Given the description of an element on the screen output the (x, y) to click on. 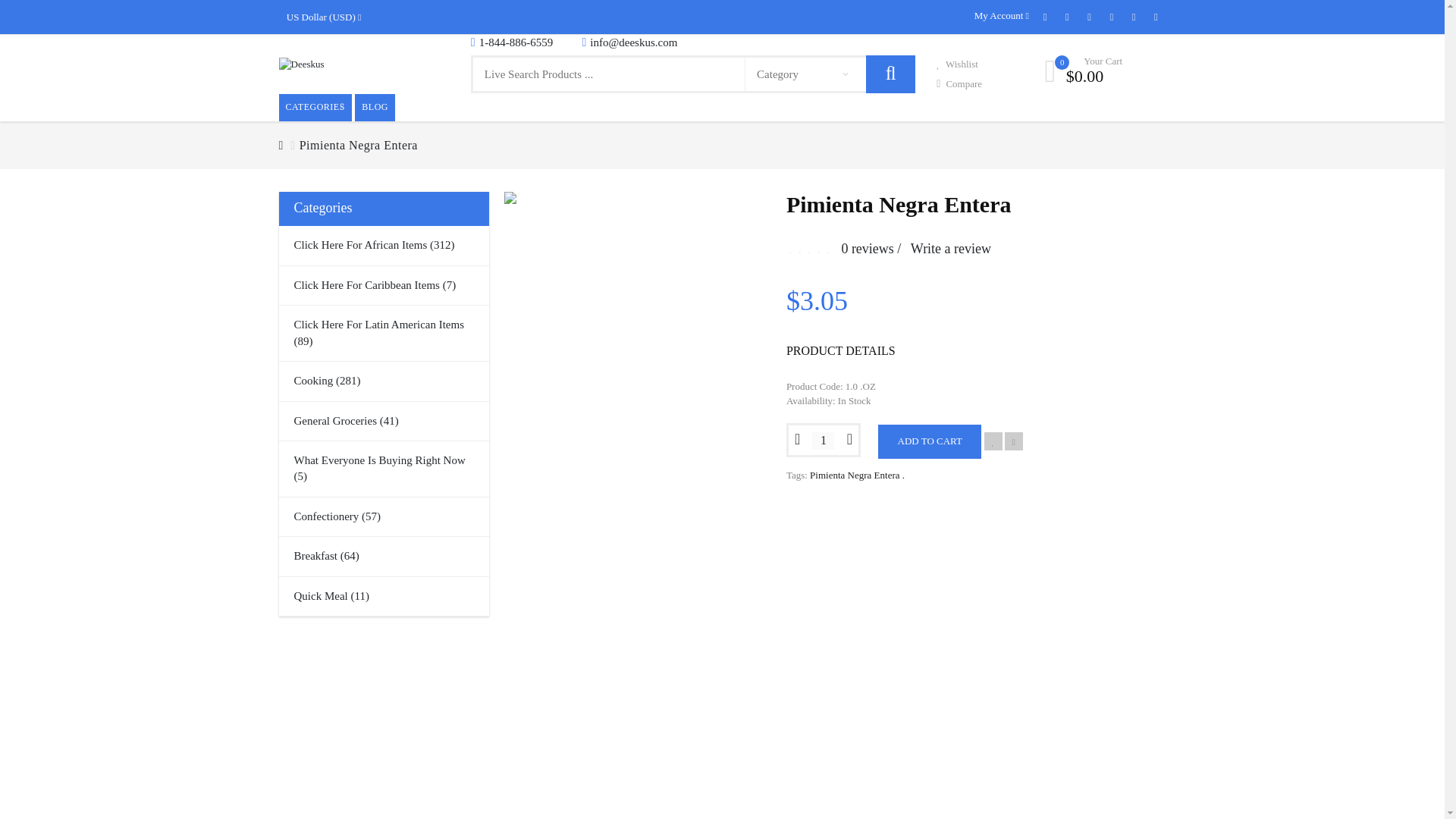
Compare (958, 83)
Deeskus (301, 64)
Wishlist (957, 63)
CATEGORIES (315, 107)
1 (823, 440)
Add to Wish List (993, 441)
Compare this Product (1013, 441)
